Given the description of an element on the screen output the (x, y) to click on. 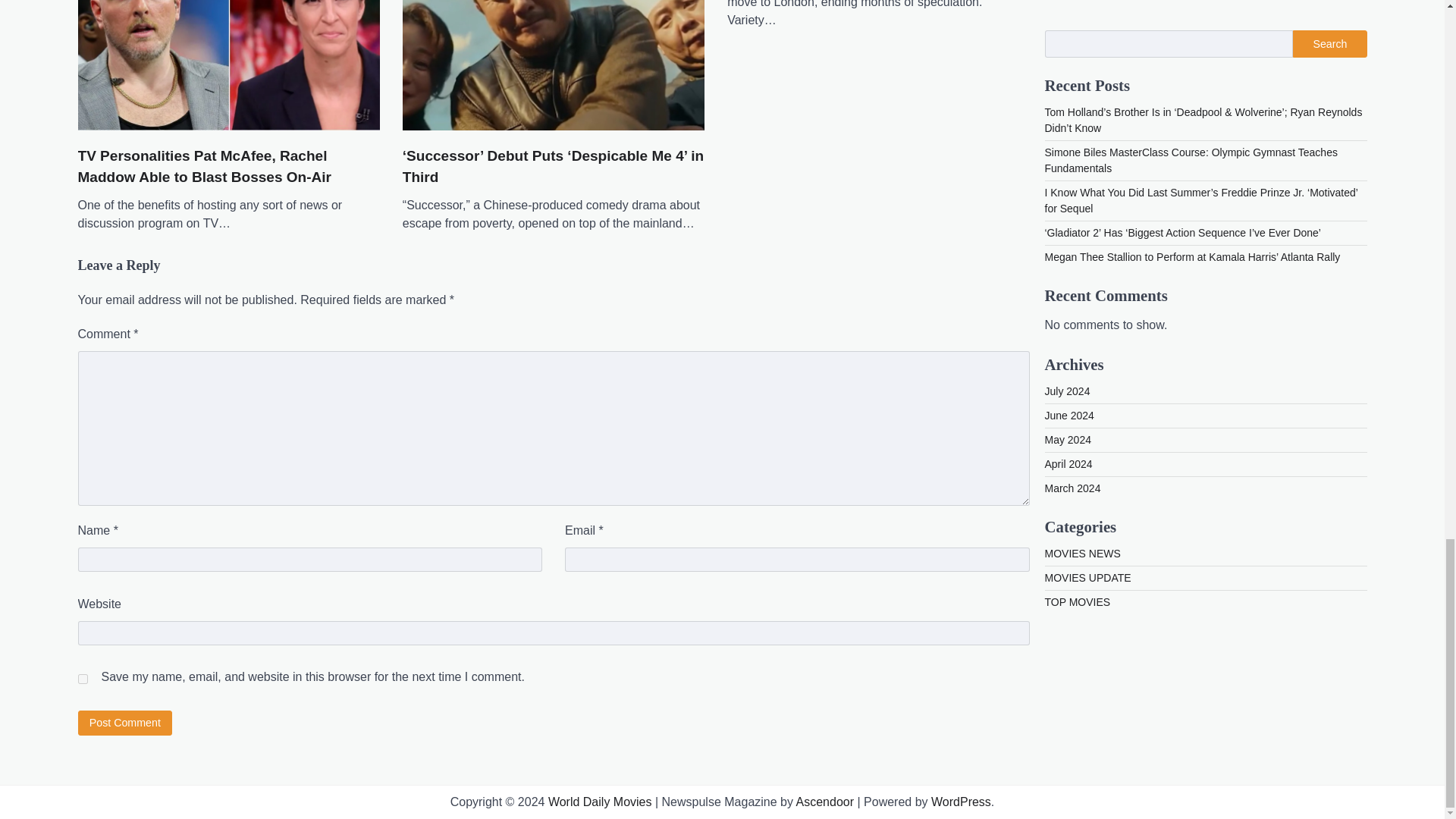
yes (82, 678)
Post Comment (124, 722)
Ascendoor (825, 801)
Post Comment (124, 722)
World Daily Movies (600, 801)
WordPress (961, 801)
